Given the description of an element on the screen output the (x, y) to click on. 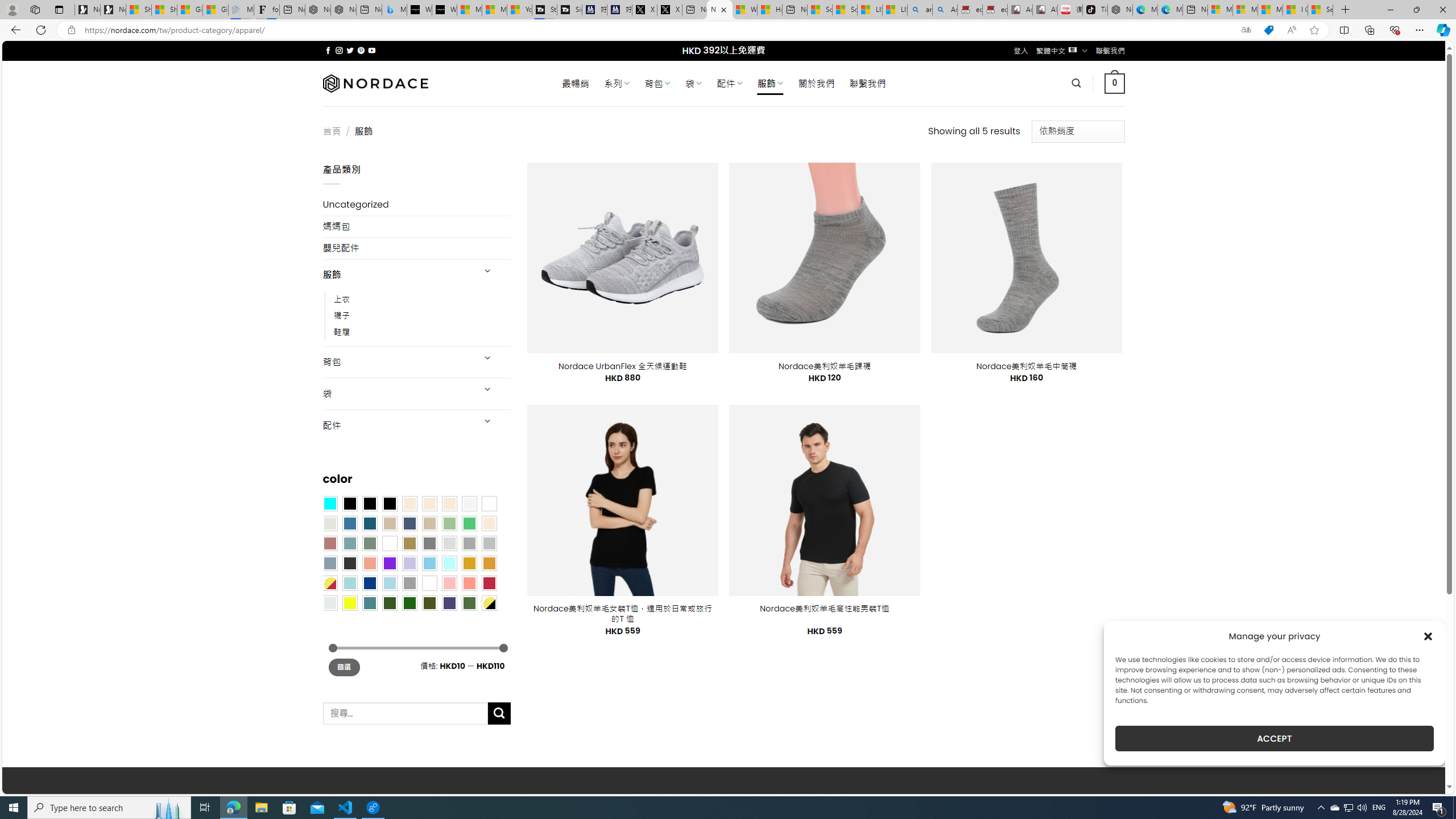
Follow on Pinterest (360, 50)
